Given the description of an element on the screen output the (x, y) to click on. 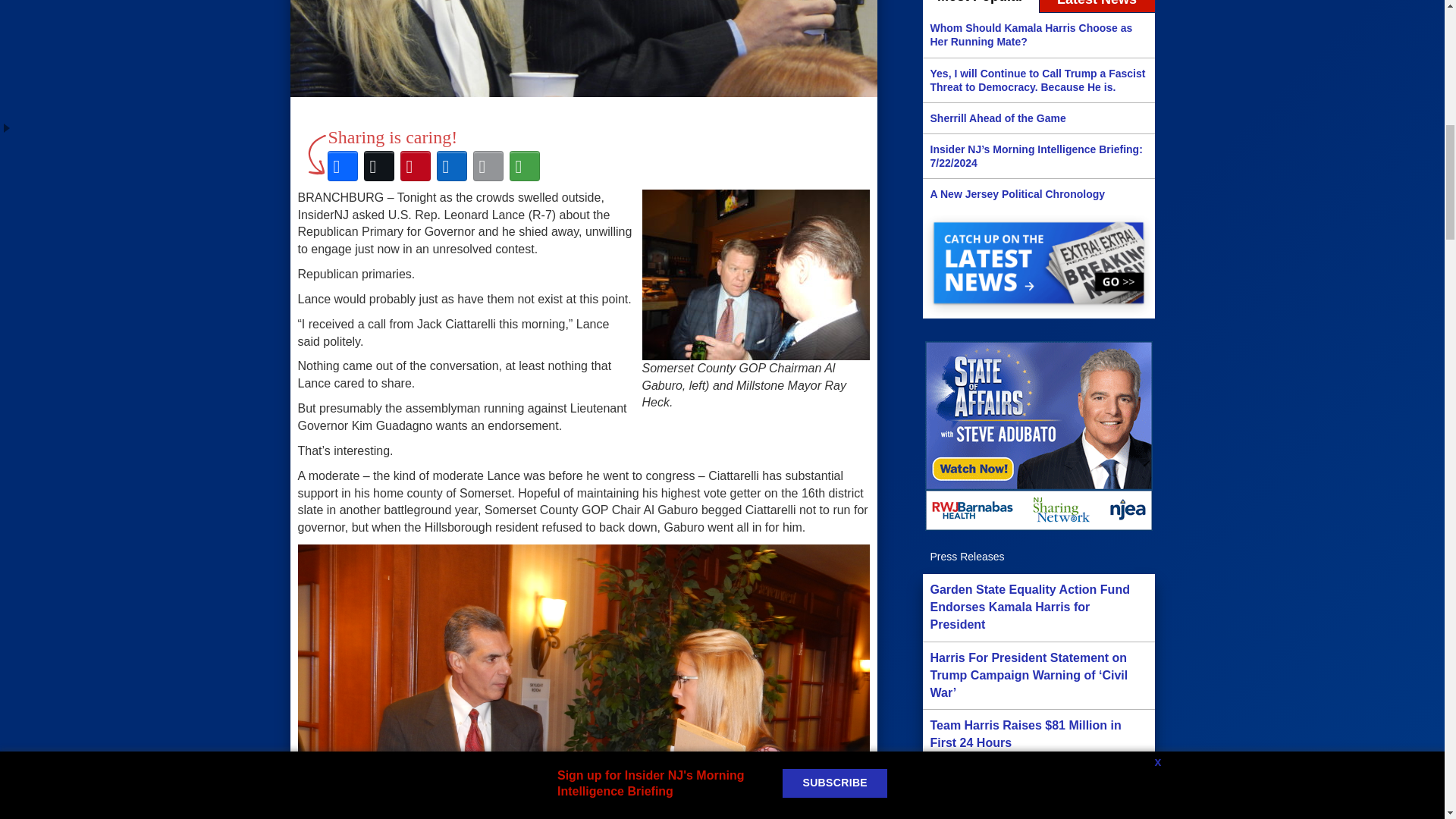
Pinterest (415, 166)
Facebook (342, 166)
LinkedIn (451, 166)
Email This (488, 166)
